Given the description of an element on the screen output the (x, y) to click on. 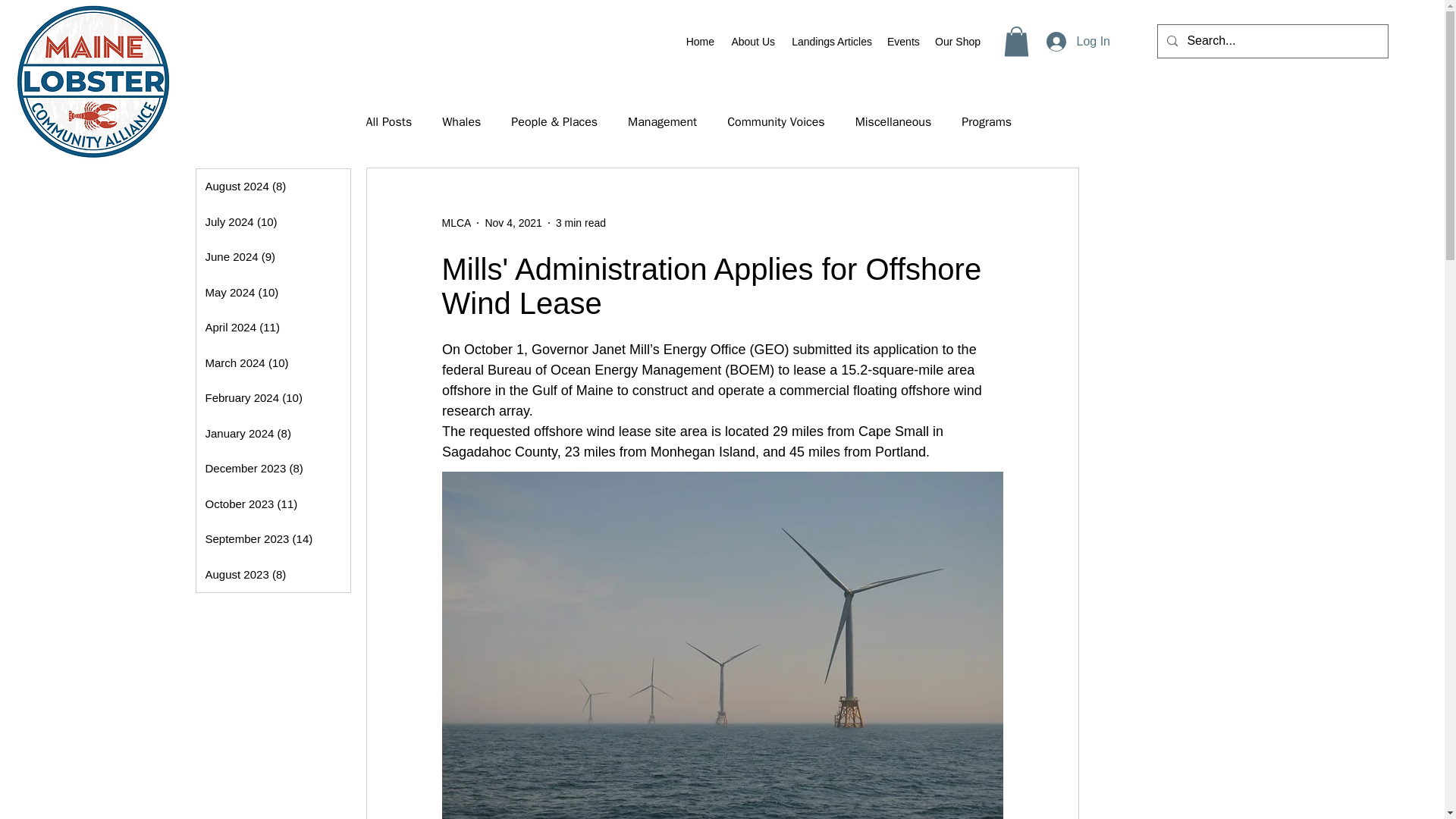
MLCA (455, 222)
3 min read (580, 223)
Our Shop (957, 41)
Management (662, 121)
Home (700, 41)
Whales (461, 121)
Nov 4, 2021 (512, 223)
Log In (1078, 41)
Community Voices (775, 121)
All Posts (388, 121)
